Given the description of an element on the screen output the (x, y) to click on. 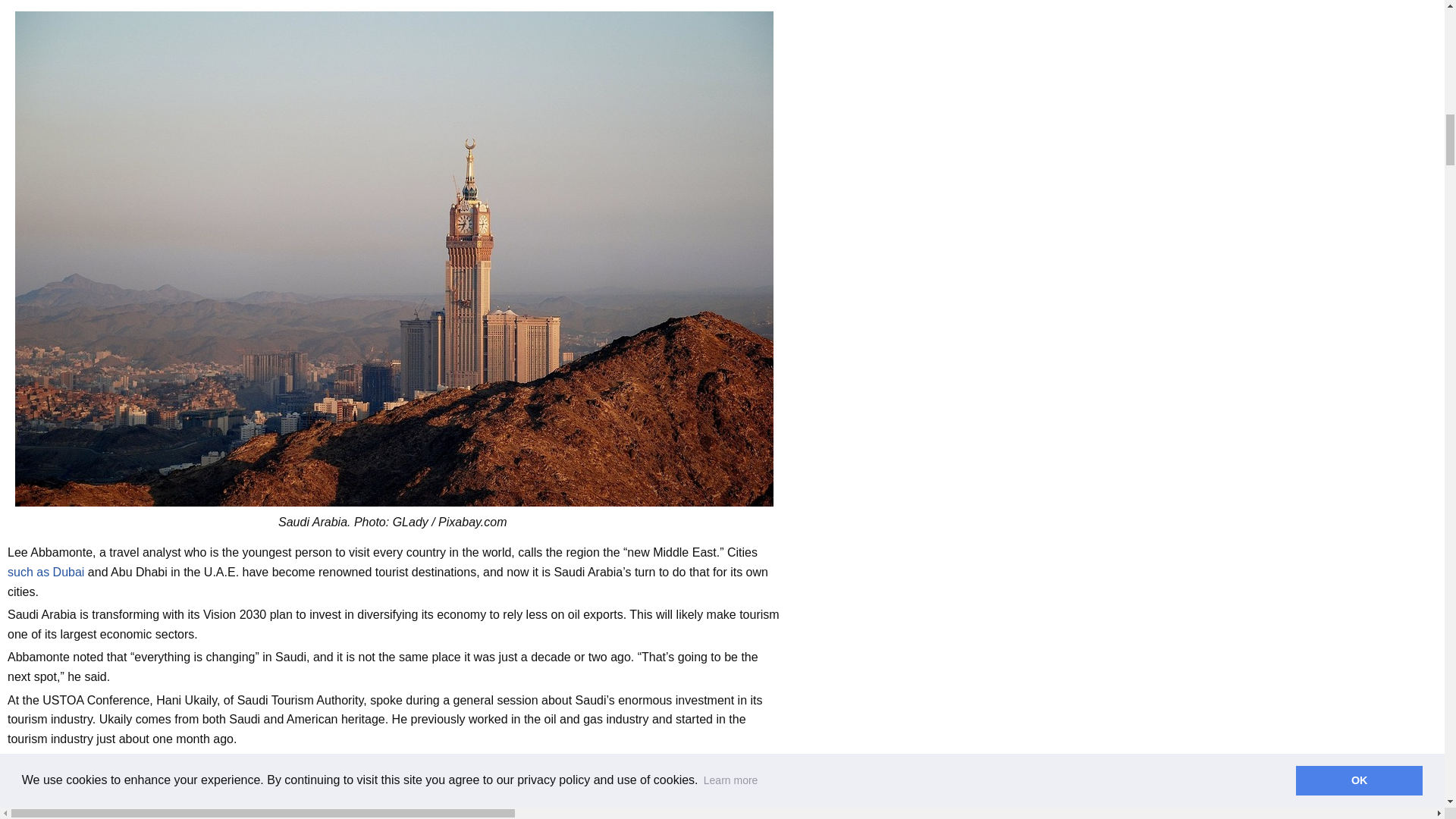
such as Dubai (45, 571)
